Given the description of an element on the screen output the (x, y) to click on. 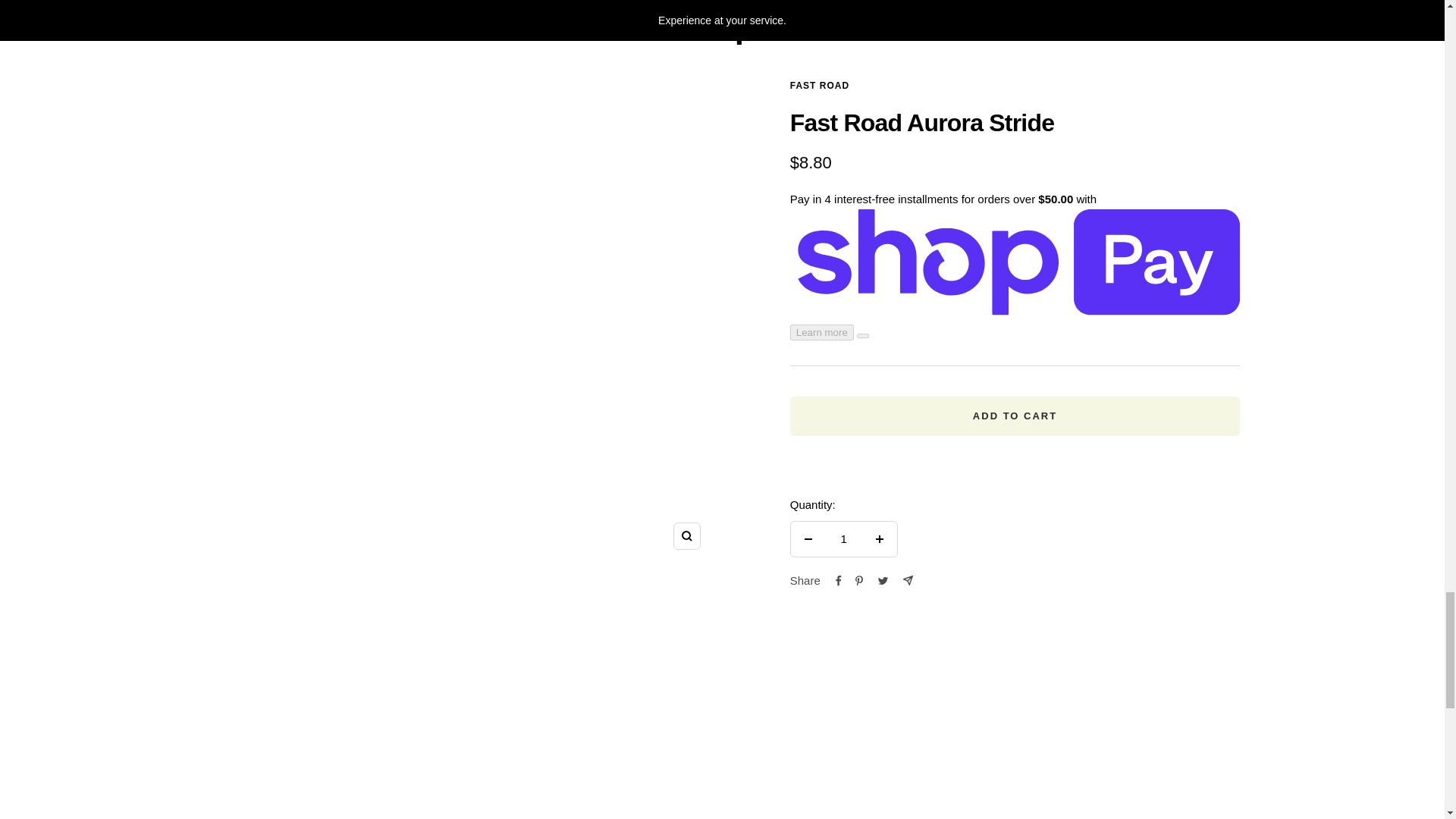
1 (843, 538)
